Given the description of an element on the screen output the (x, y) to click on. 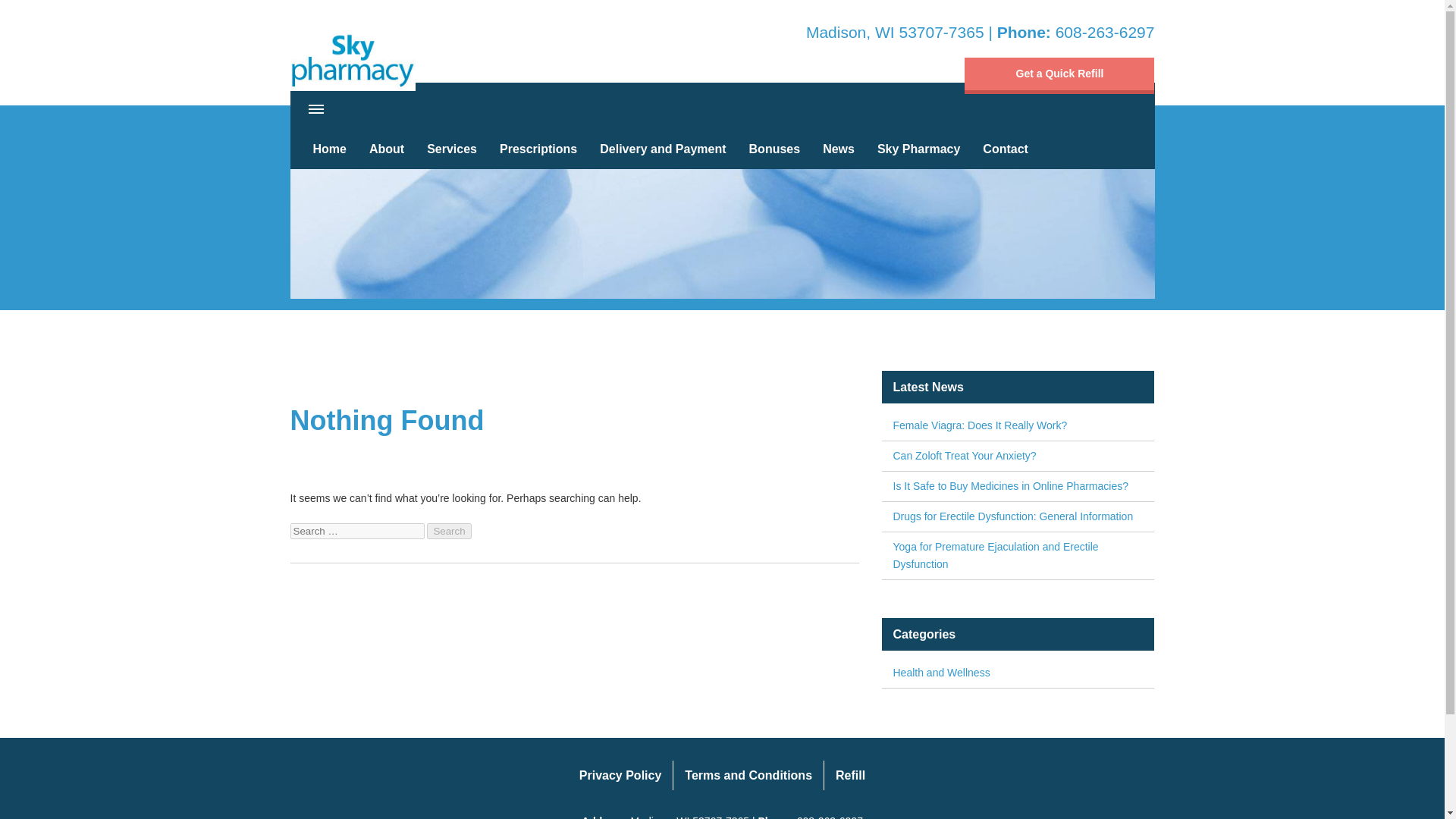
Refill (850, 774)
Health and Wellness (1017, 672)
Menu (316, 109)
Contact (1005, 148)
Yoga for Premature Ejaculation and Erectile Dysfunction (1017, 555)
Privacy Policy (619, 774)
Sky Pharmacy (351, 56)
Delivery and Payment (662, 148)
Get a Quick Refill (1058, 75)
Terms and Conditions (748, 774)
